Given the description of an element on the screen output the (x, y) to click on. 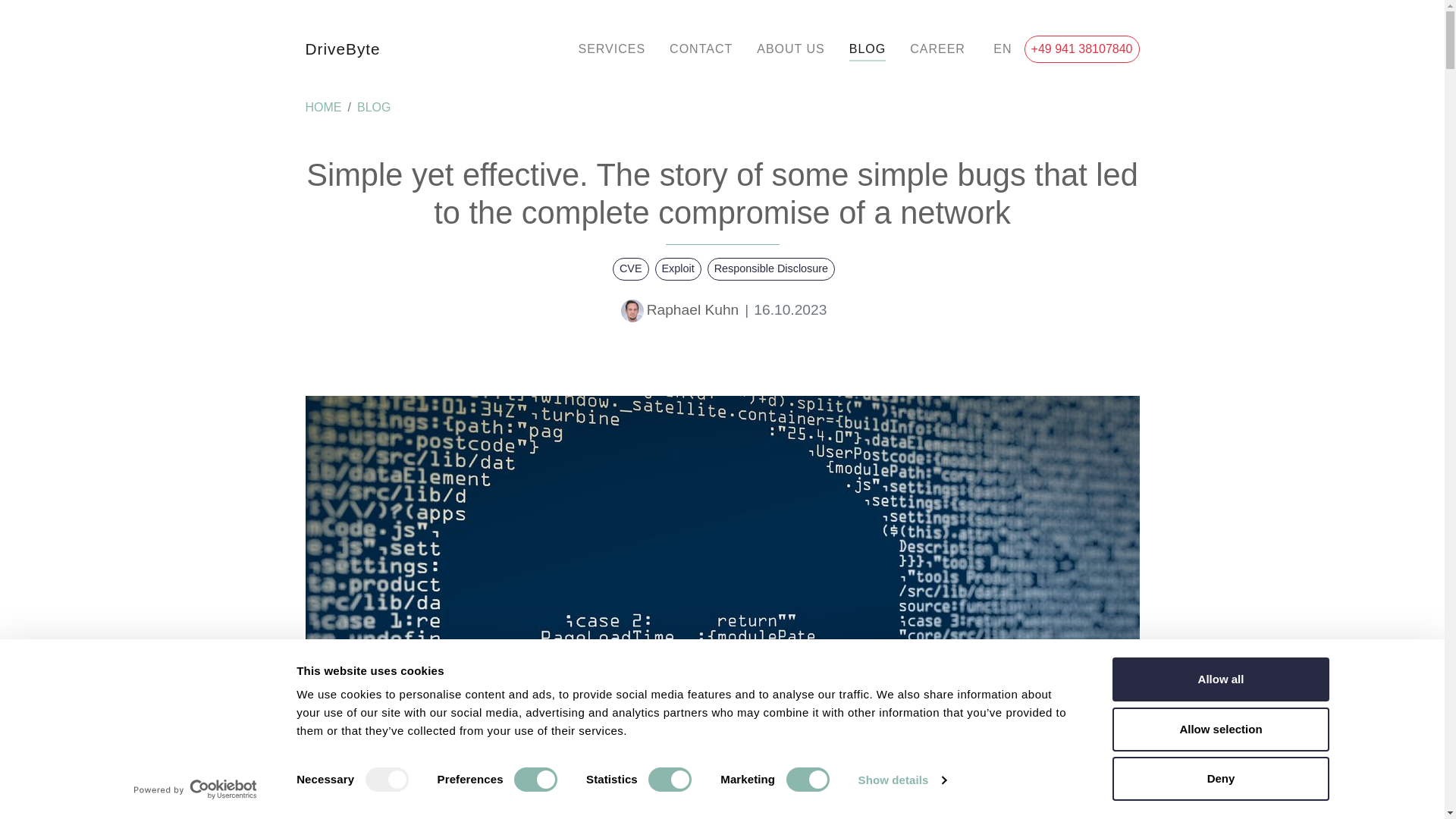
Show details (900, 780)
Blog (867, 49)
Career (937, 49)
Home (322, 107)
Deny (1219, 778)
Services (612, 49)
Allow selection (1219, 728)
Allow all (1219, 679)
SERVICES (612, 49)
Contact (701, 49)
English (1000, 49)
About Us (790, 49)
